Given the description of an element on the screen output the (x, y) to click on. 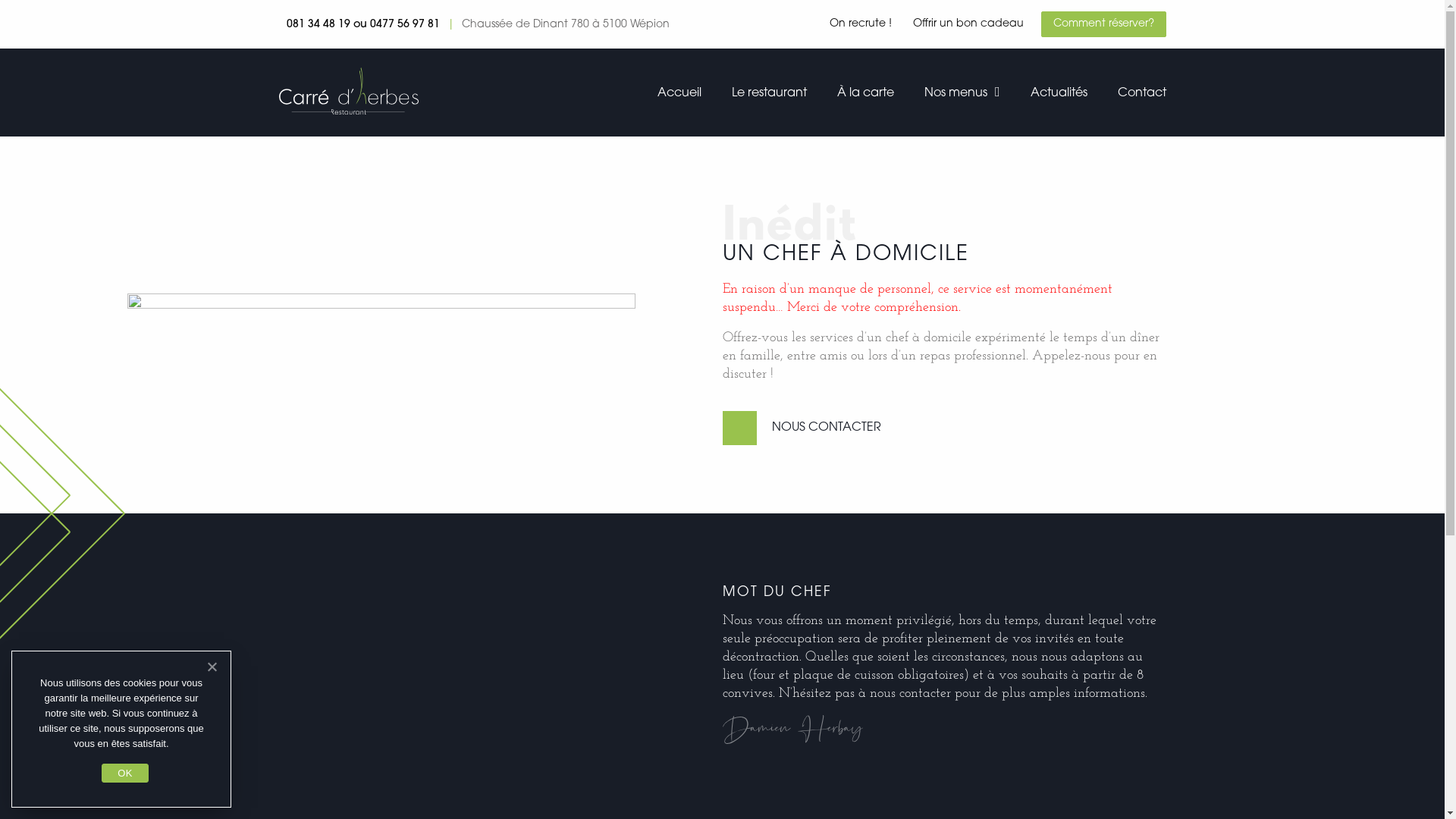
OK Element type: text (124, 772)
Offrir un bon cadeau Element type: text (965, 23)
Contact Element type: text (1141, 93)
081 34 48 19 ou 0477 56 97 81 Element type: text (362, 24)
On recrute ! Element type: text (860, 23)
Accueil Element type: text (679, 93)
NOUS CONTACTER Element type: text (808, 428)
Nos menus Element type: text (955, 93)
Le restaurant Element type: text (768, 93)
